Given the description of an element on the screen output the (x, y) to click on. 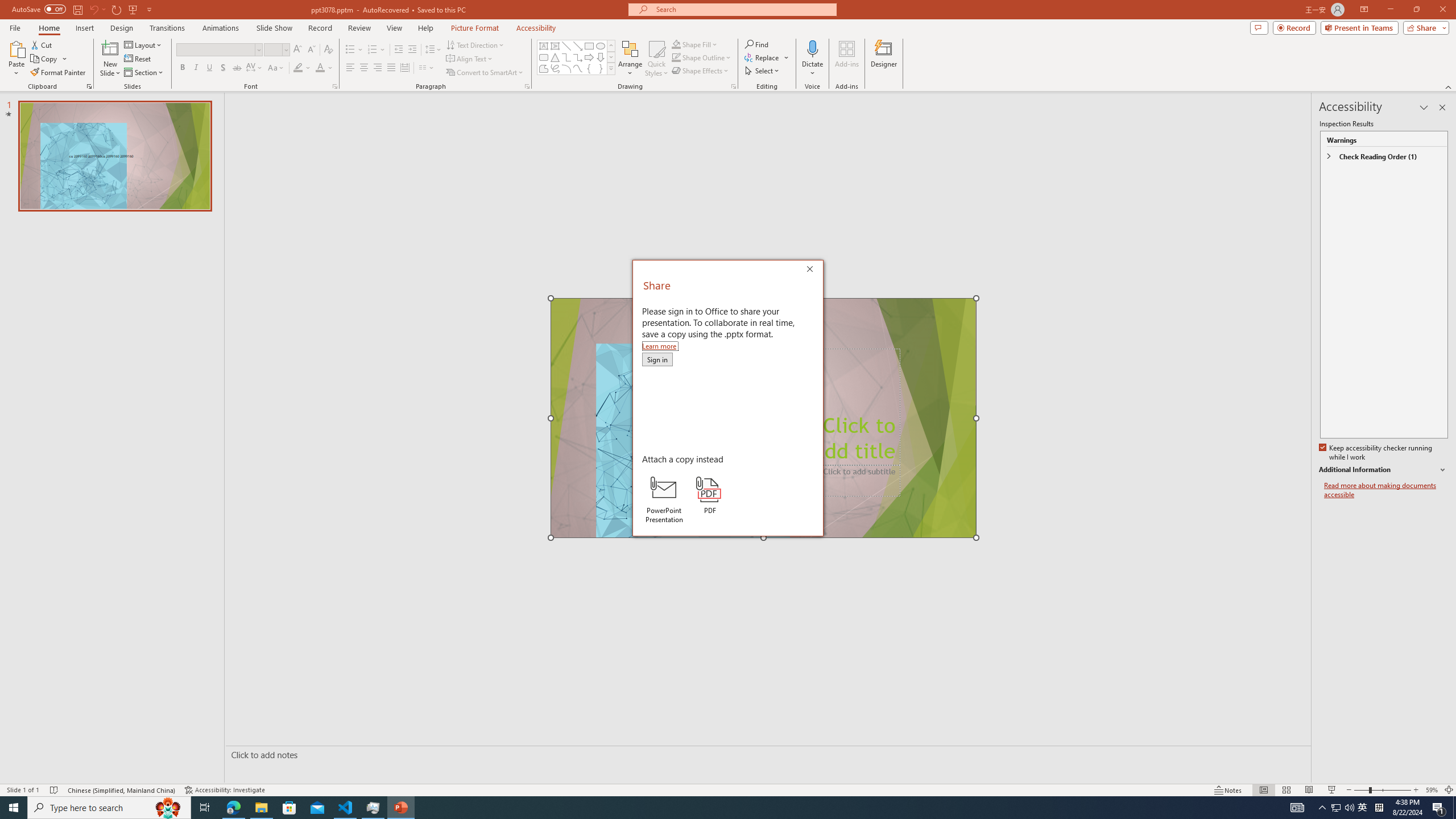
PDF (709, 495)
Search highlights icon opens search home window (167, 807)
Select (762, 69)
Bold (182, 67)
Shape Outline (701, 56)
